Given the description of an element on the screen output the (x, y) to click on. 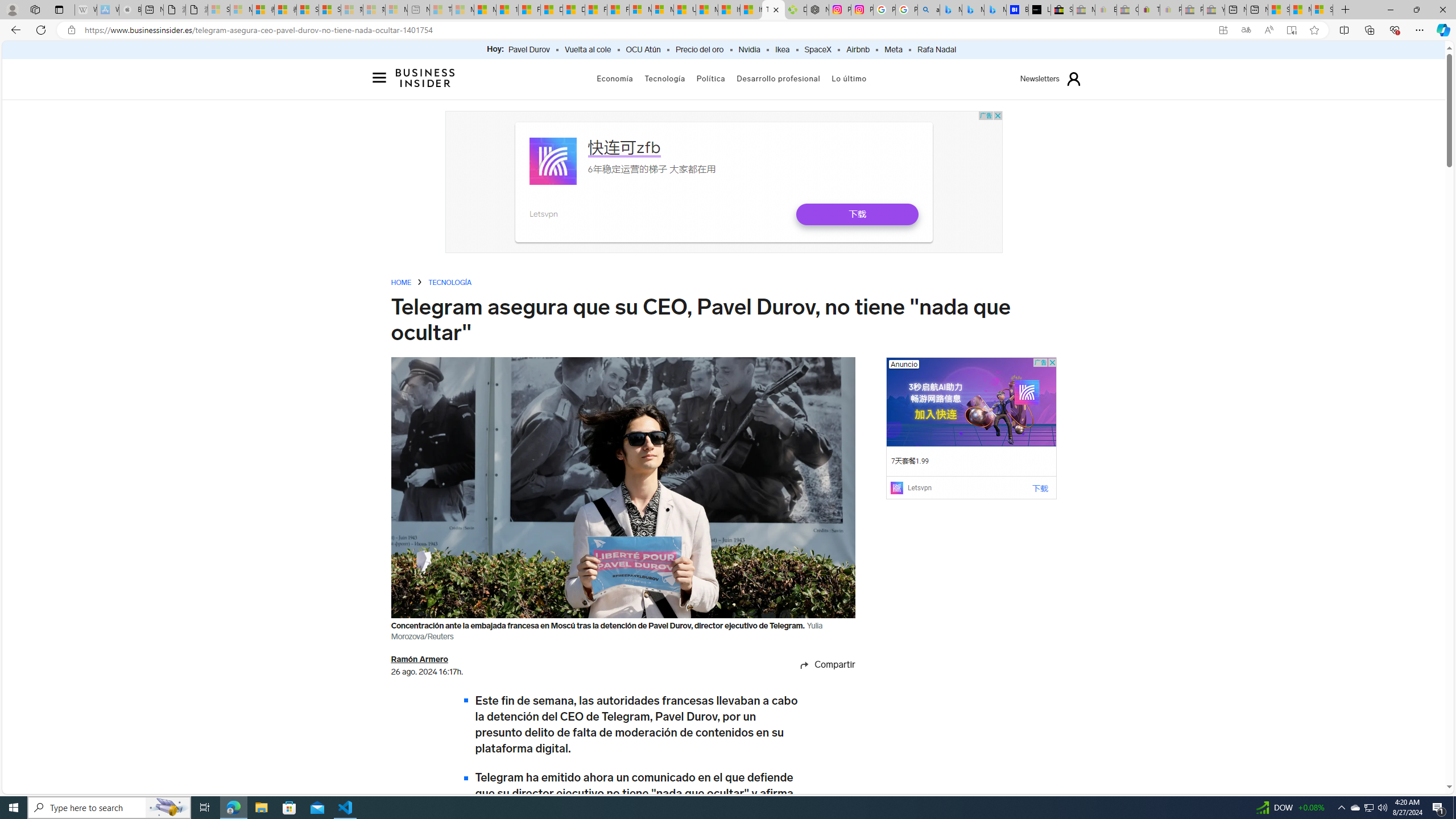
Microsoft account | Account Checkup - Sleeping (396, 9)
Twitter (815, 748)
Shanghai, China hourly forecast | Microsoft Weather (1278, 9)
SpaceX (817, 49)
Letsvpn (919, 487)
Meta (892, 49)
